Given the description of an element on the screen output the (x, y) to click on. 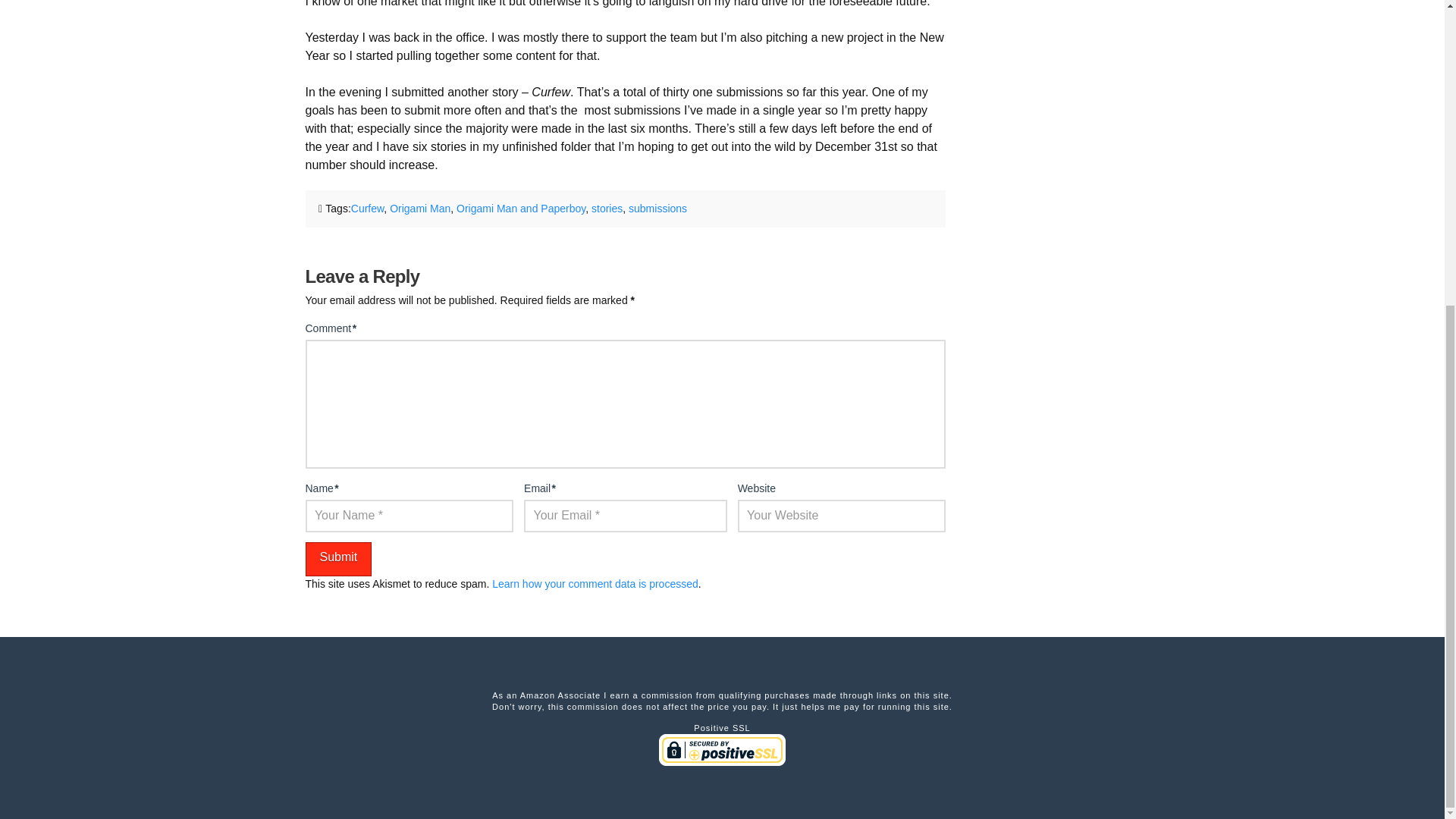
Submit (337, 559)
Curfew (367, 208)
Origami Man (419, 208)
